Given the description of an element on the screen output the (x, y) to click on. 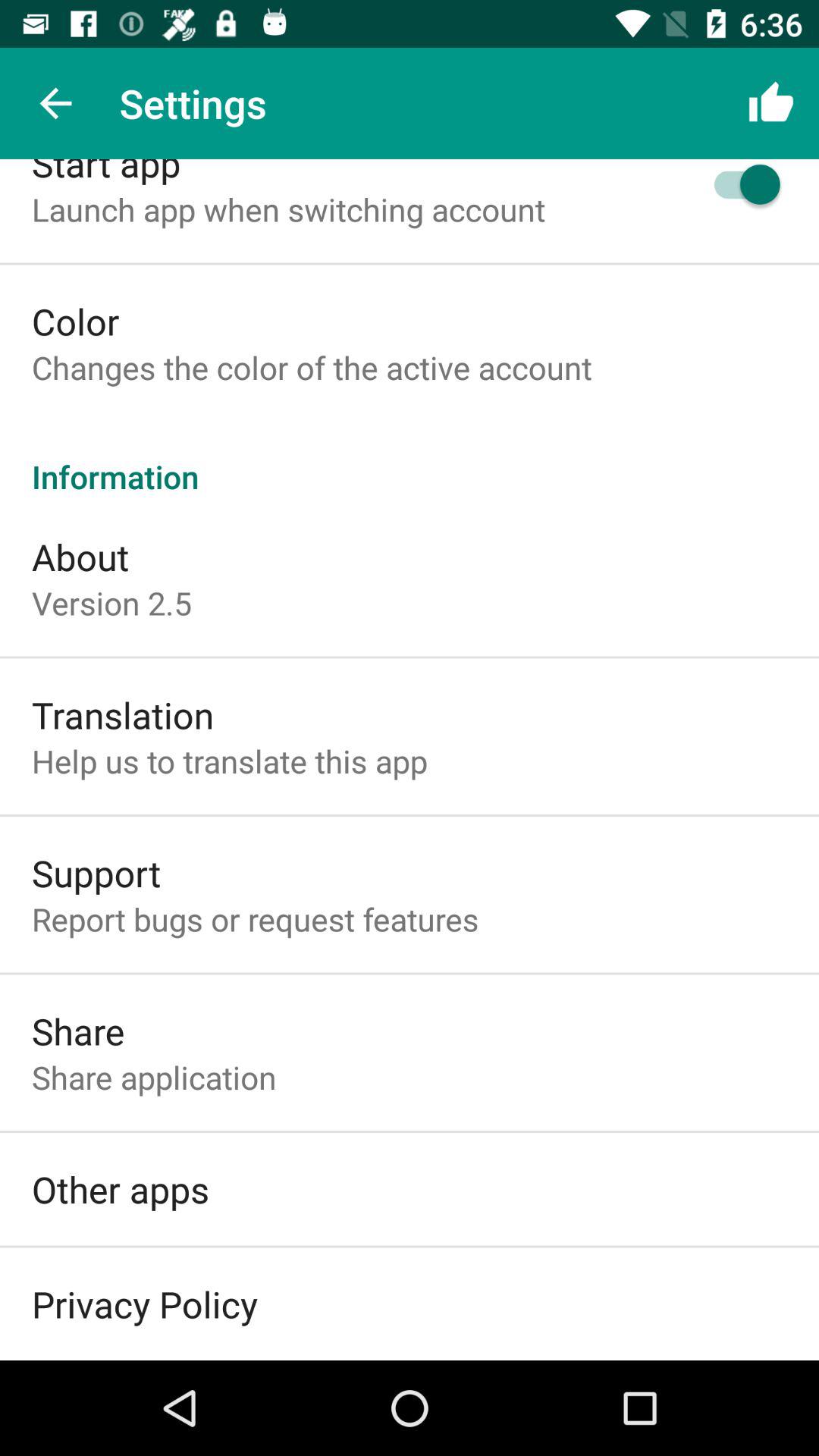
turn off the icon below the color icon (311, 367)
